Given the description of an element on the screen output the (x, y) to click on. 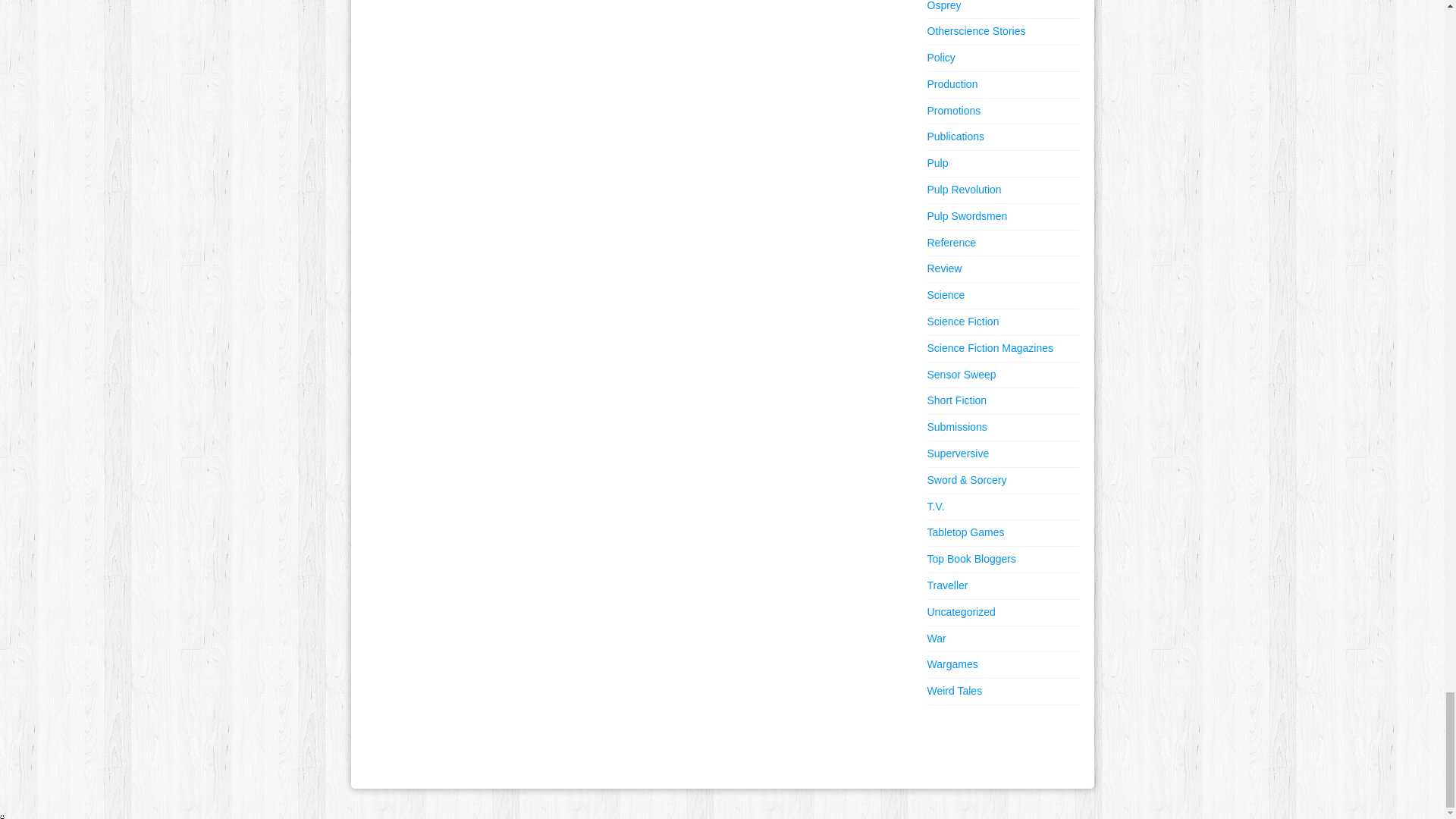
Announcements of new publications by Castalia House (955, 136)
